Given the description of an element on the screen output the (x, y) to click on. 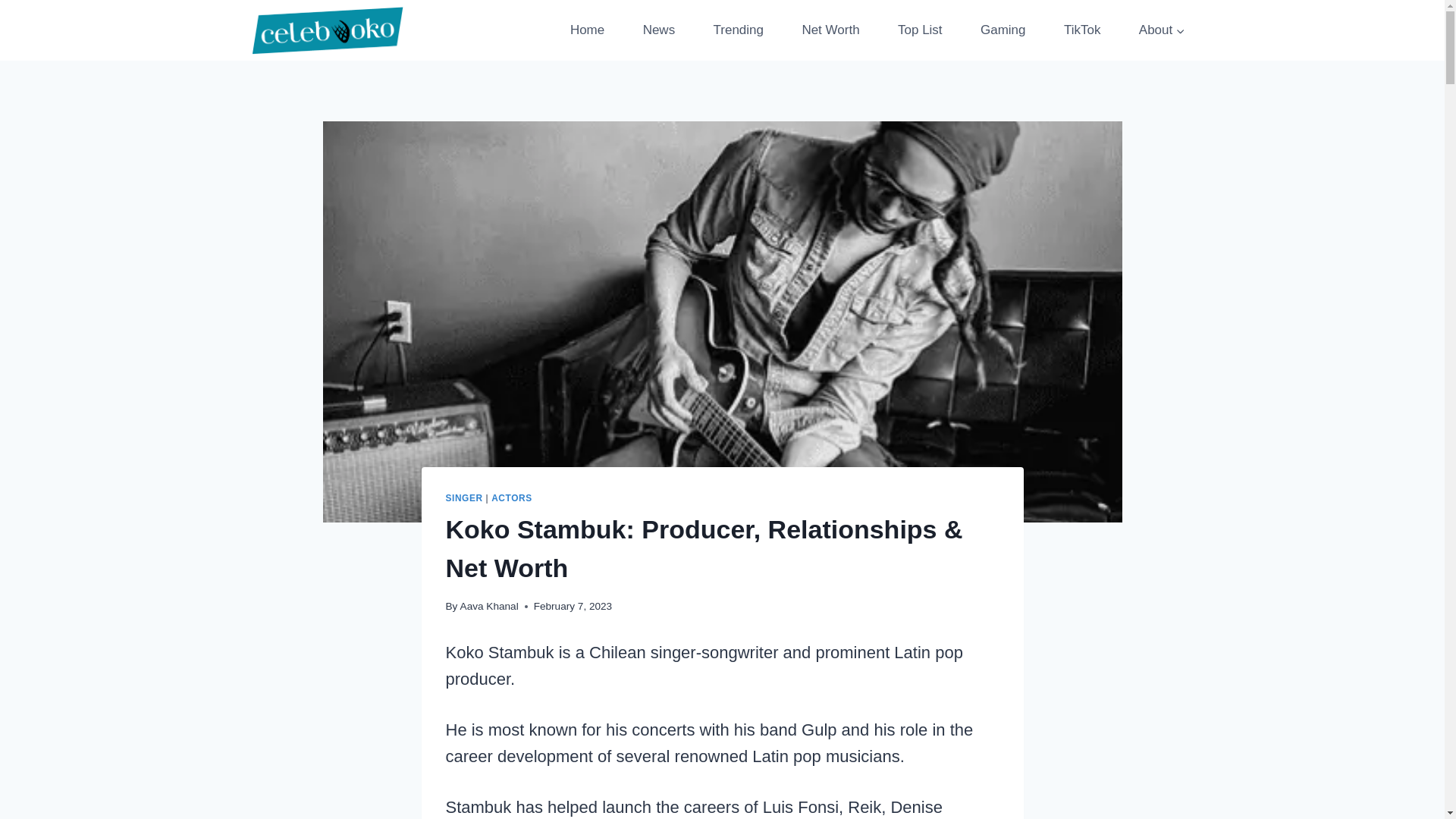
TikTok (1082, 30)
Home (587, 30)
Top List (919, 30)
Trending (737, 30)
SINGER (464, 498)
Gaming (1002, 30)
News (658, 30)
Aava Khanal (489, 605)
About (1162, 30)
ACTORS (512, 498)
